Given the description of an element on the screen output the (x, y) to click on. 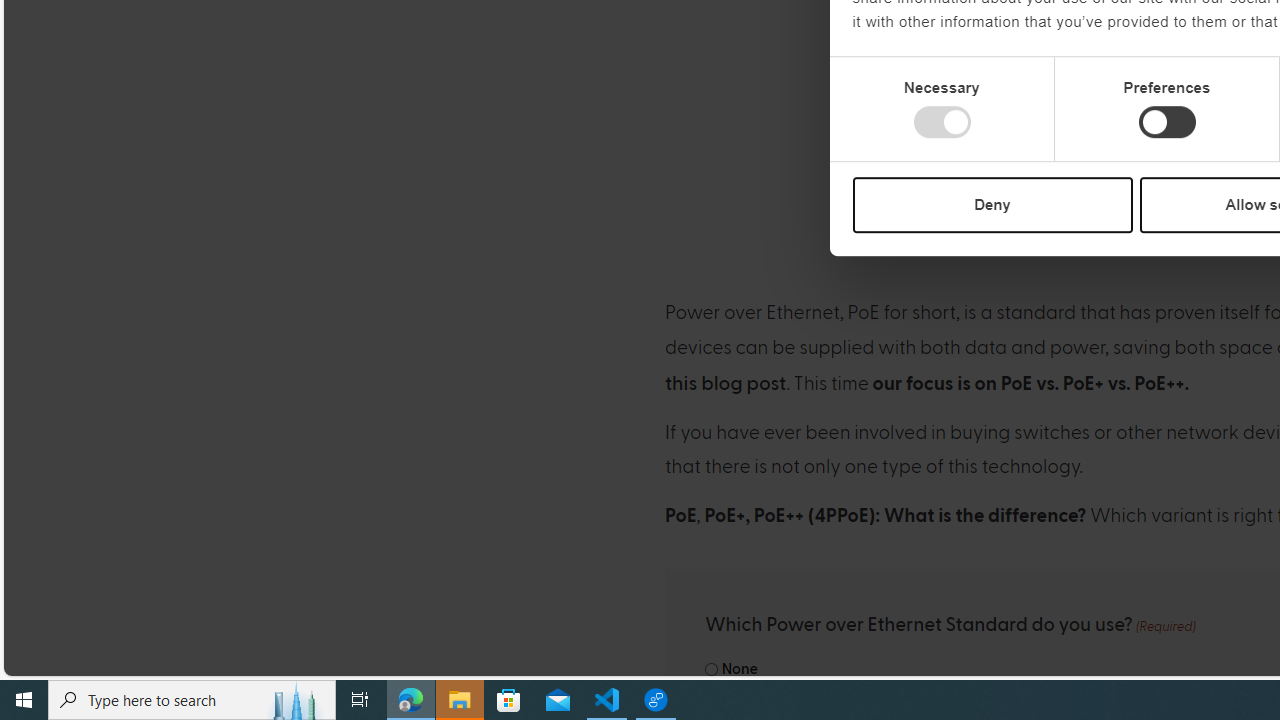
Necessary (941, 121)
None (711, 669)
Preferences (1166, 121)
Deny (992, 204)
